Given the description of an element on the screen output the (x, y) to click on. 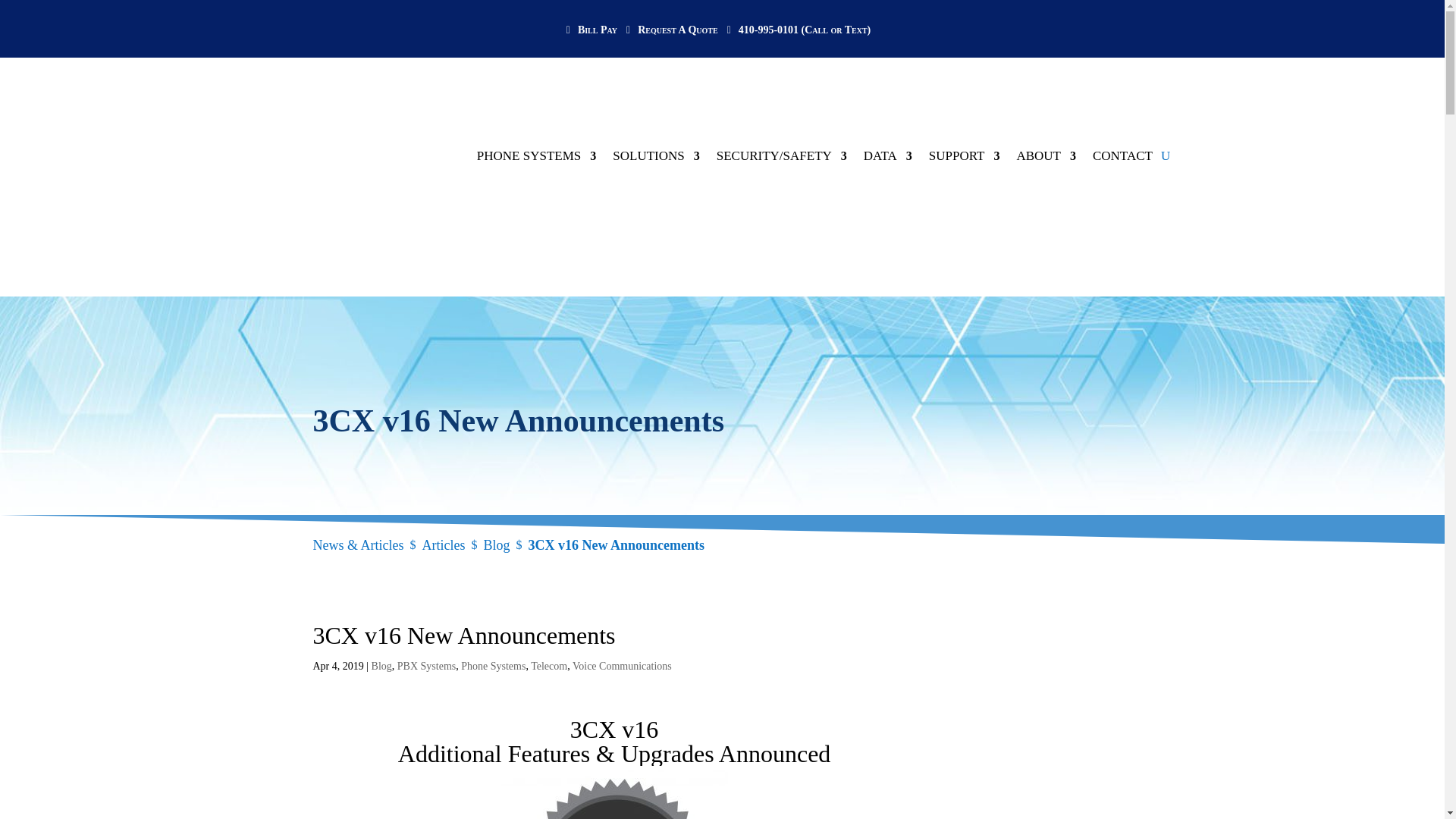
PHONE SYSTEMS (536, 109)
Accessibility (1424, 247)
SOLUTIONS (655, 109)
Request A Quote (675, 41)
Bill Pay (595, 41)
